Given the description of an element on the screen output the (x, y) to click on. 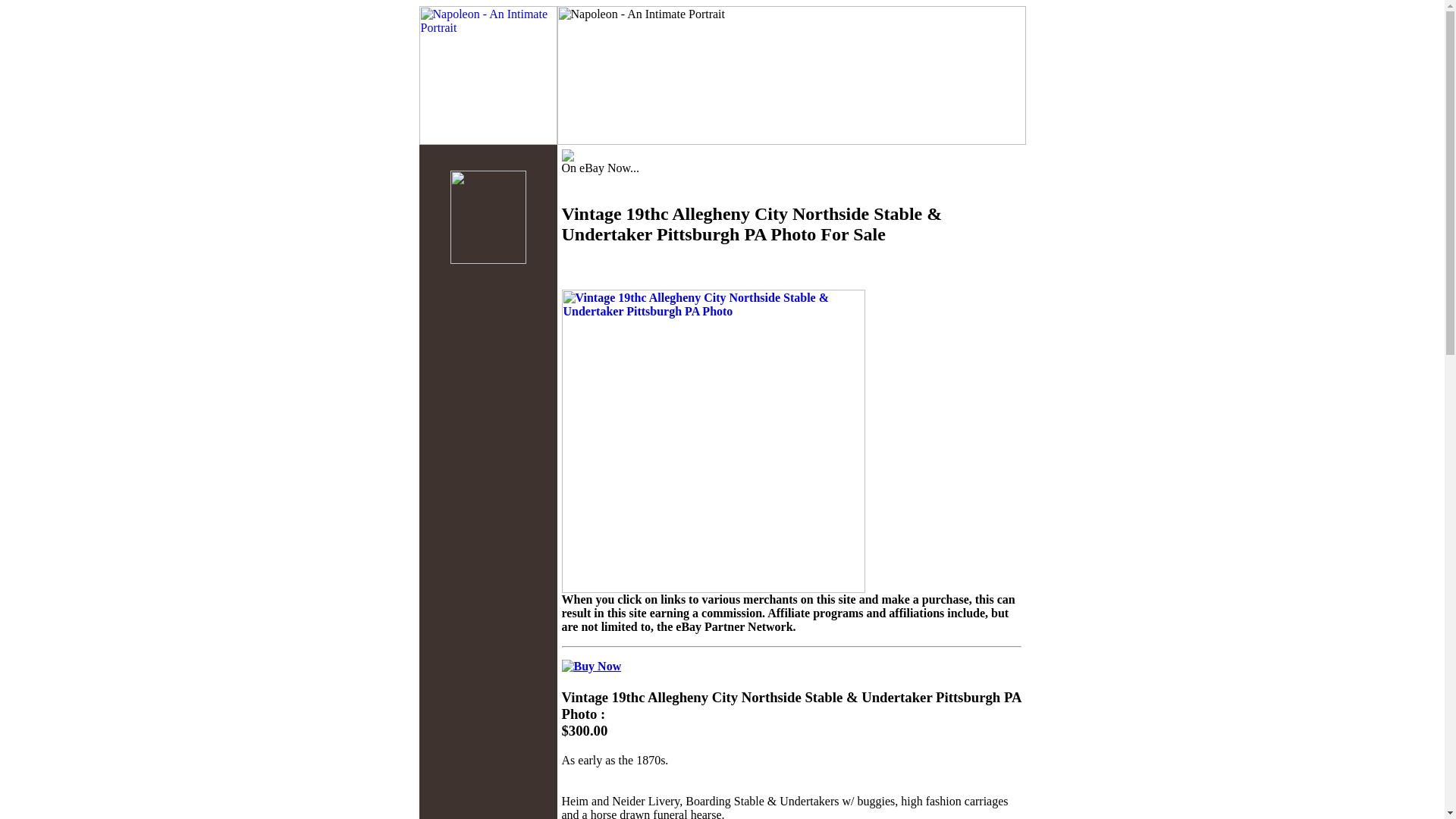
Buy Now (590, 666)
